Given the description of an element on the screen output the (x, y) to click on. 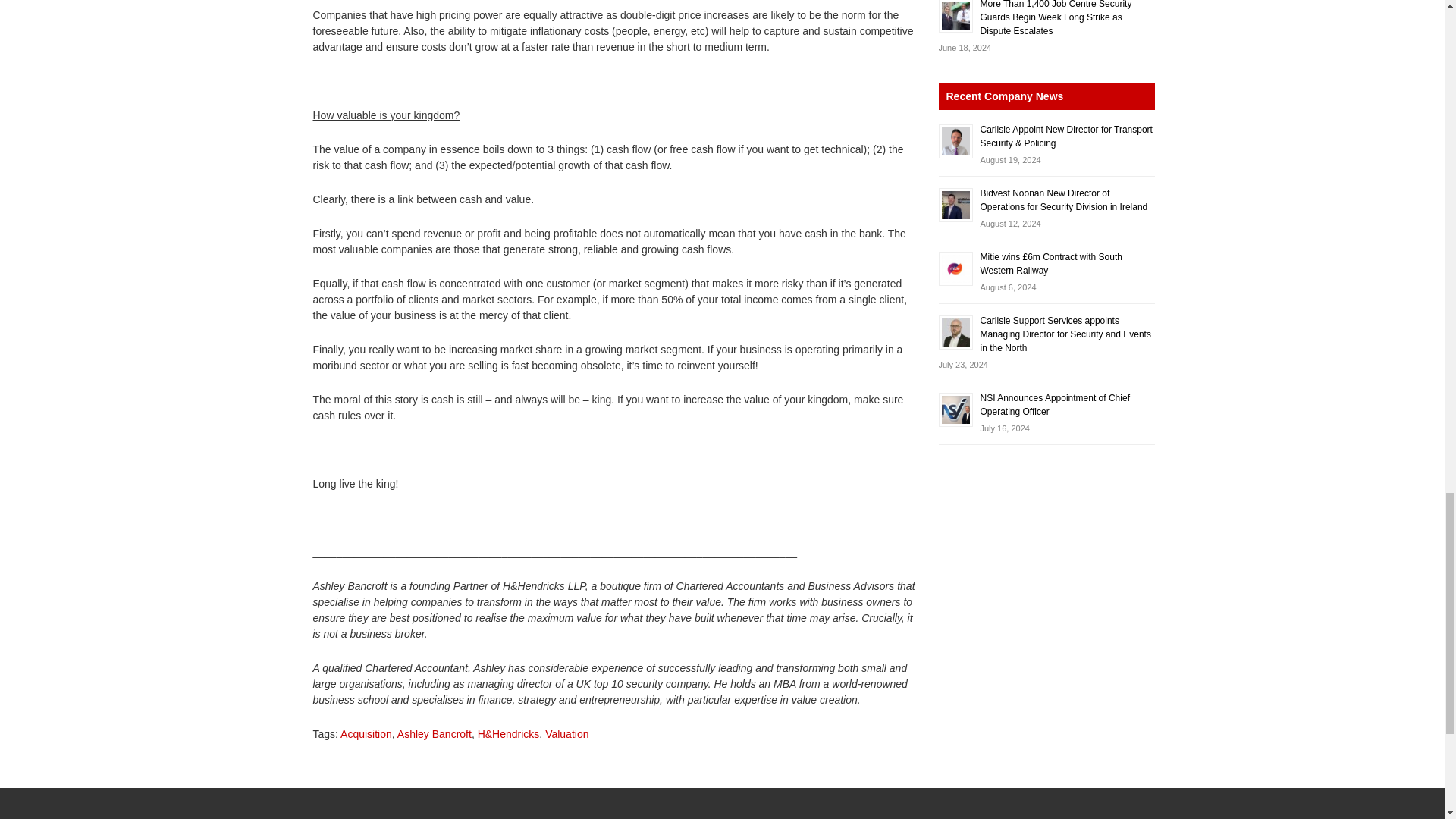
Ashley Bancroft (434, 734)
Recent Company News (1046, 95)
Acquisition (365, 734)
Valuation (566, 734)
